Given the description of an element on the screen output the (x, y) to click on. 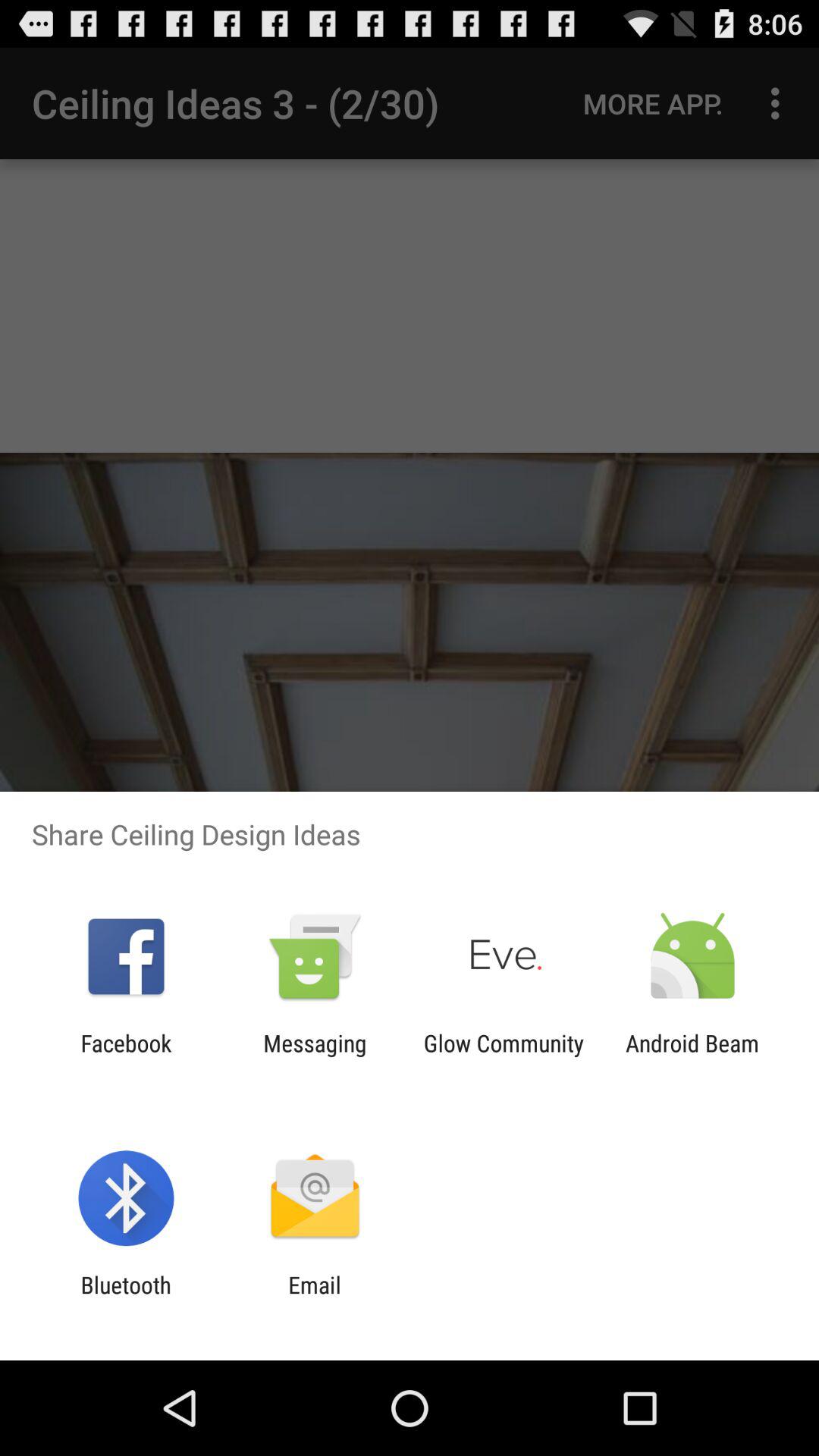
turn on item next to glow community item (314, 1056)
